Given the description of an element on the screen output the (x, y) to click on. 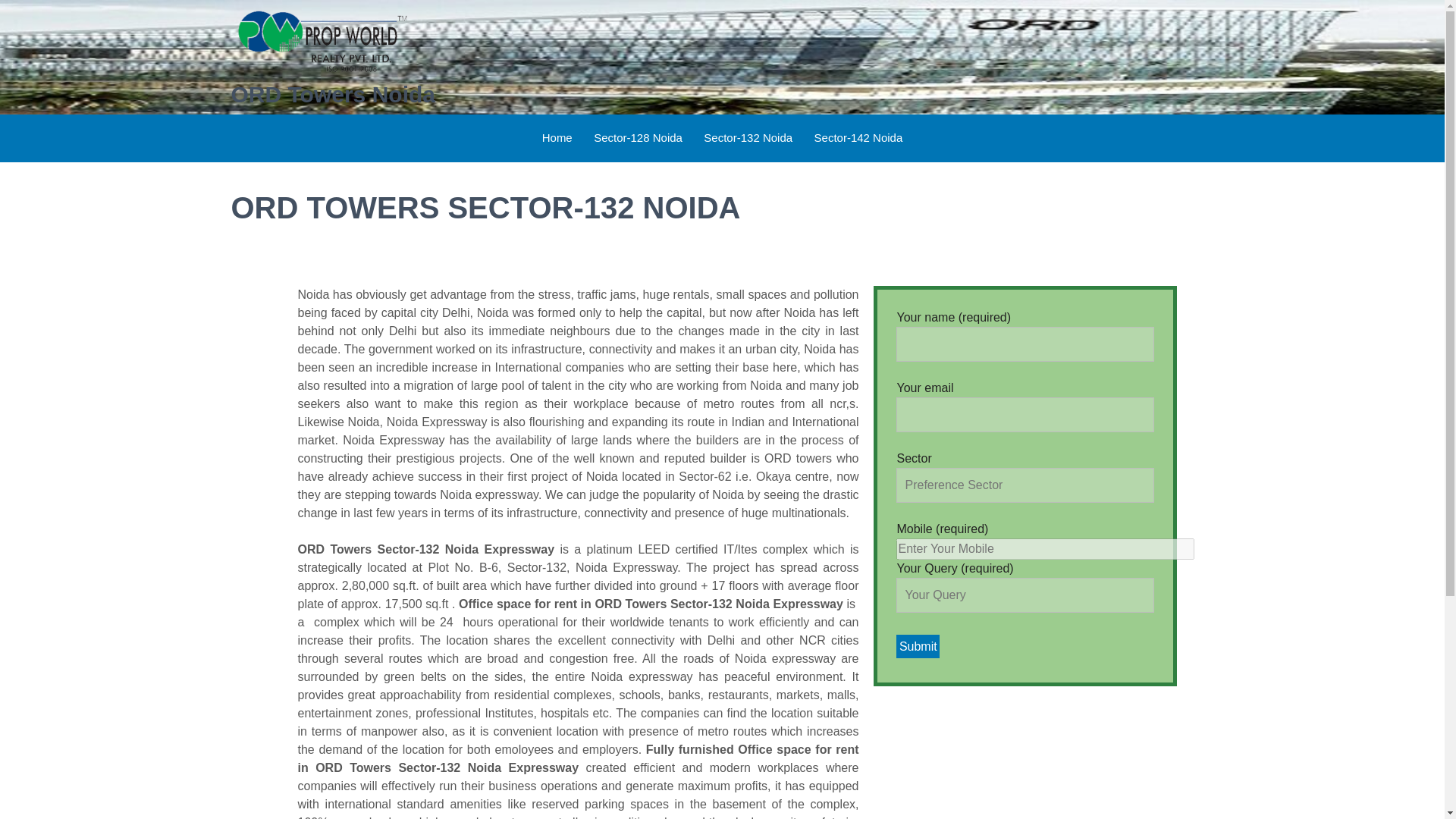
Submit (917, 646)
Sector-128 Noida (638, 138)
ORD Towers Noida (331, 94)
Sector-142 Noida (858, 138)
Submit (917, 646)
Home (556, 138)
Sector-132 Noida (748, 138)
